Given the description of an element on the screen output the (x, y) to click on. 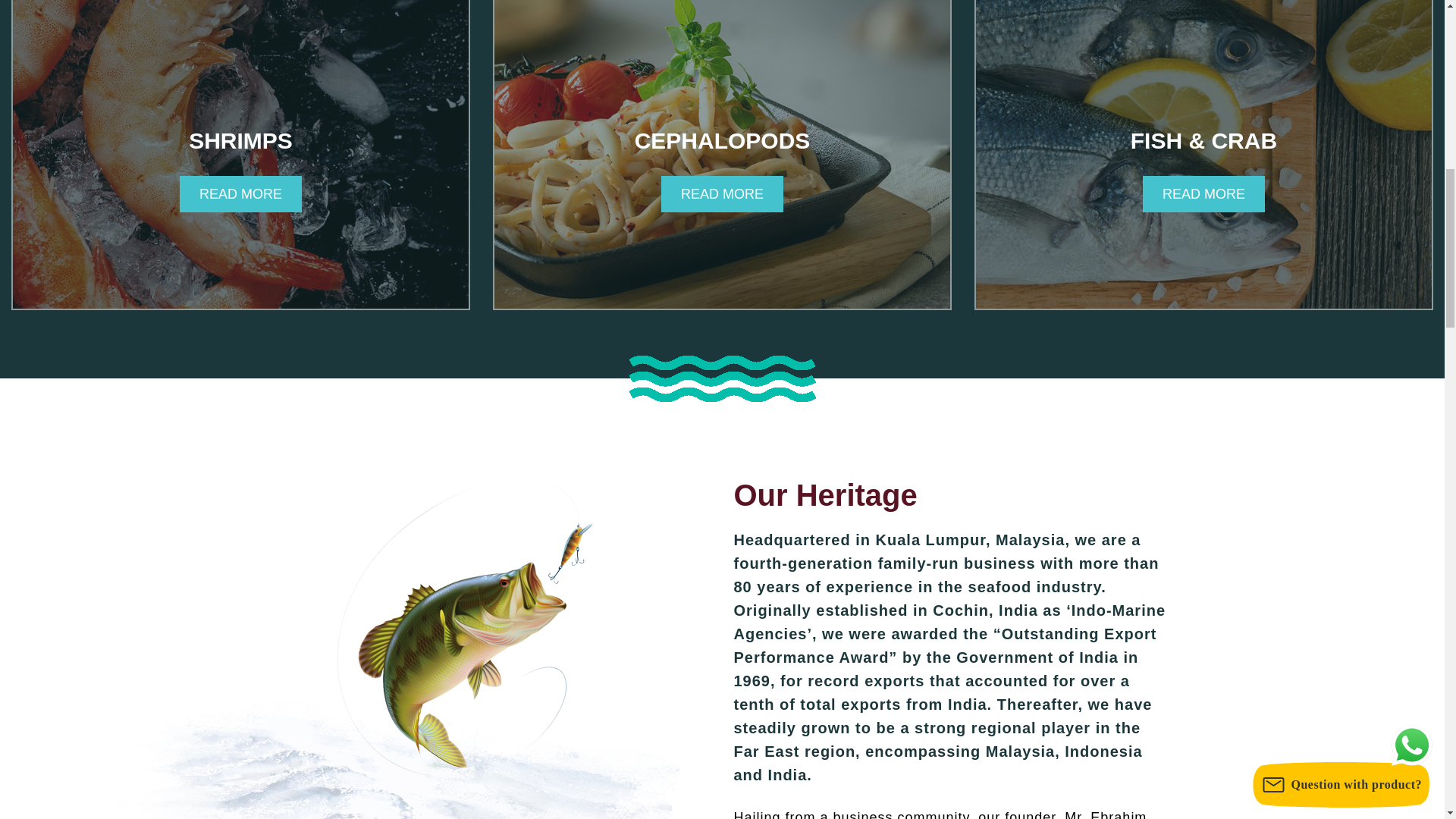
READ MORE (240, 193)
READ MORE (721, 193)
READ MORE (1202, 193)
